Given the description of an element on the screen output the (x, y) to click on. 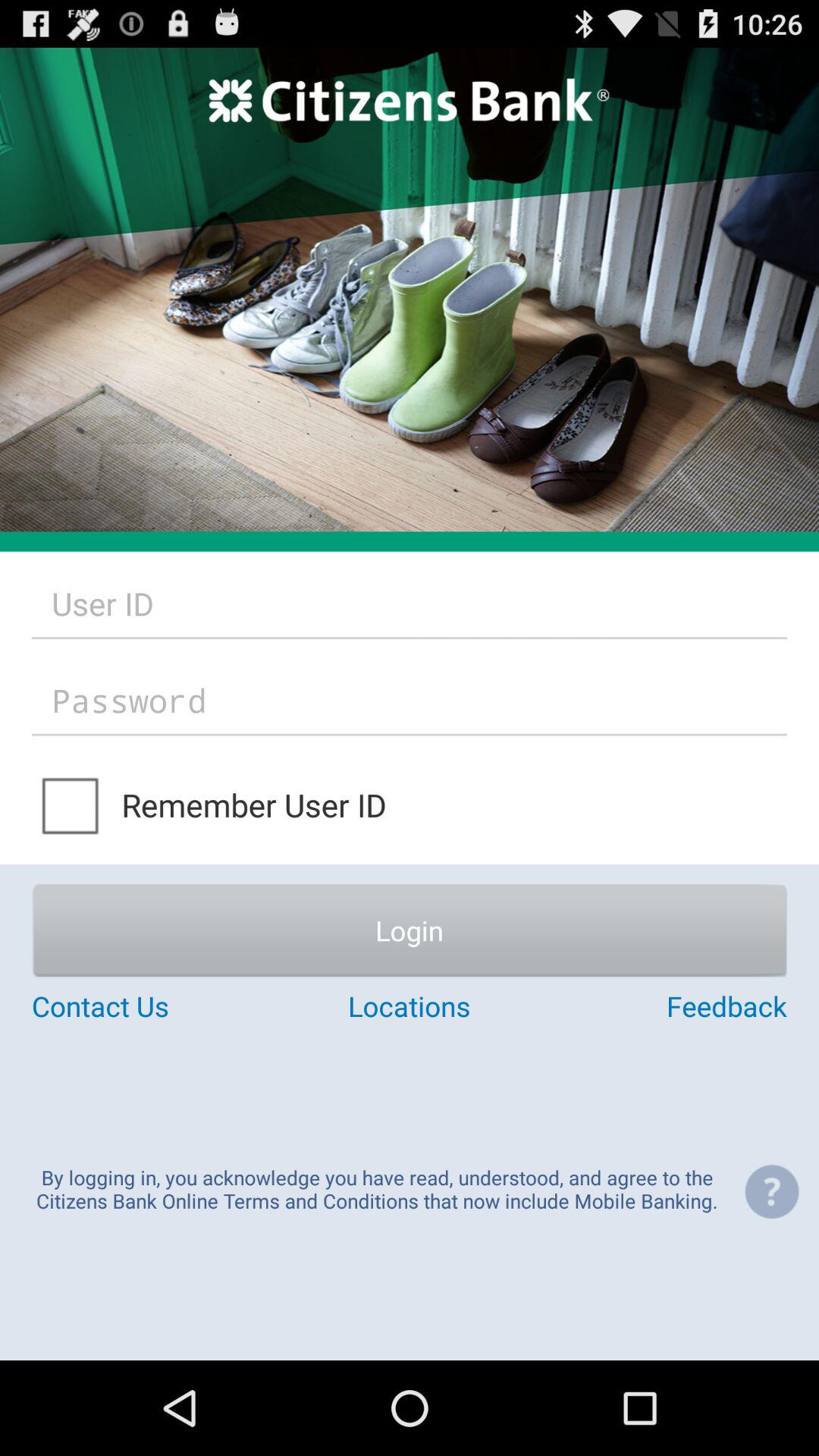
select the icon to the left of feedback (409, 1005)
